Given the description of an element on the screen output the (x, y) to click on. 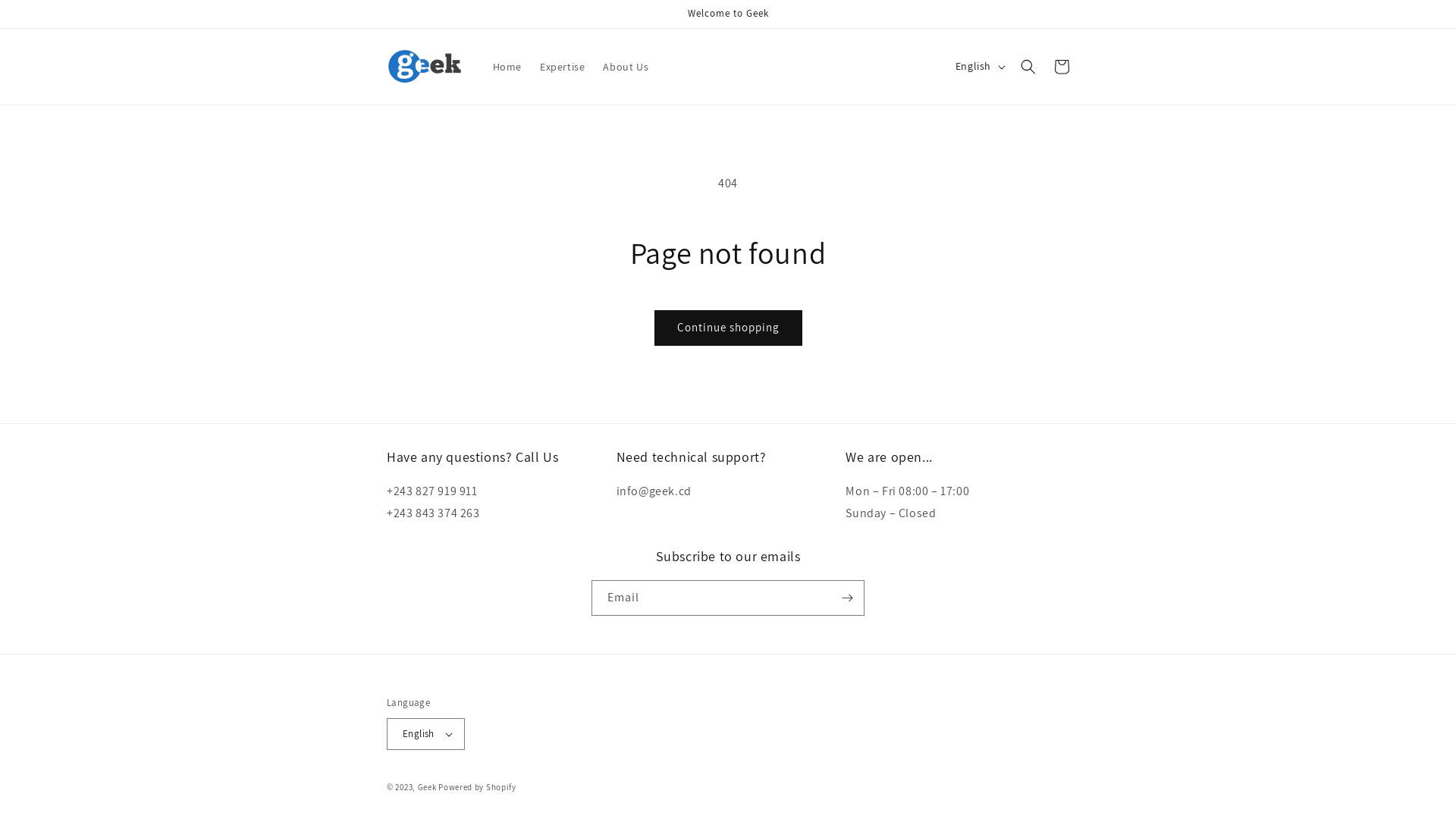
Powered by Shopify Element type: text (477, 786)
Home Element type: text (506, 66)
About Us Element type: text (625, 66)
Continue shopping Element type: text (727, 327)
English Element type: text (425, 733)
Expertise Element type: text (561, 66)
Geek Element type: text (426, 786)
Cart Element type: text (1061, 66)
English Element type: text (978, 66)
